Given the description of an element on the screen output the (x, y) to click on. 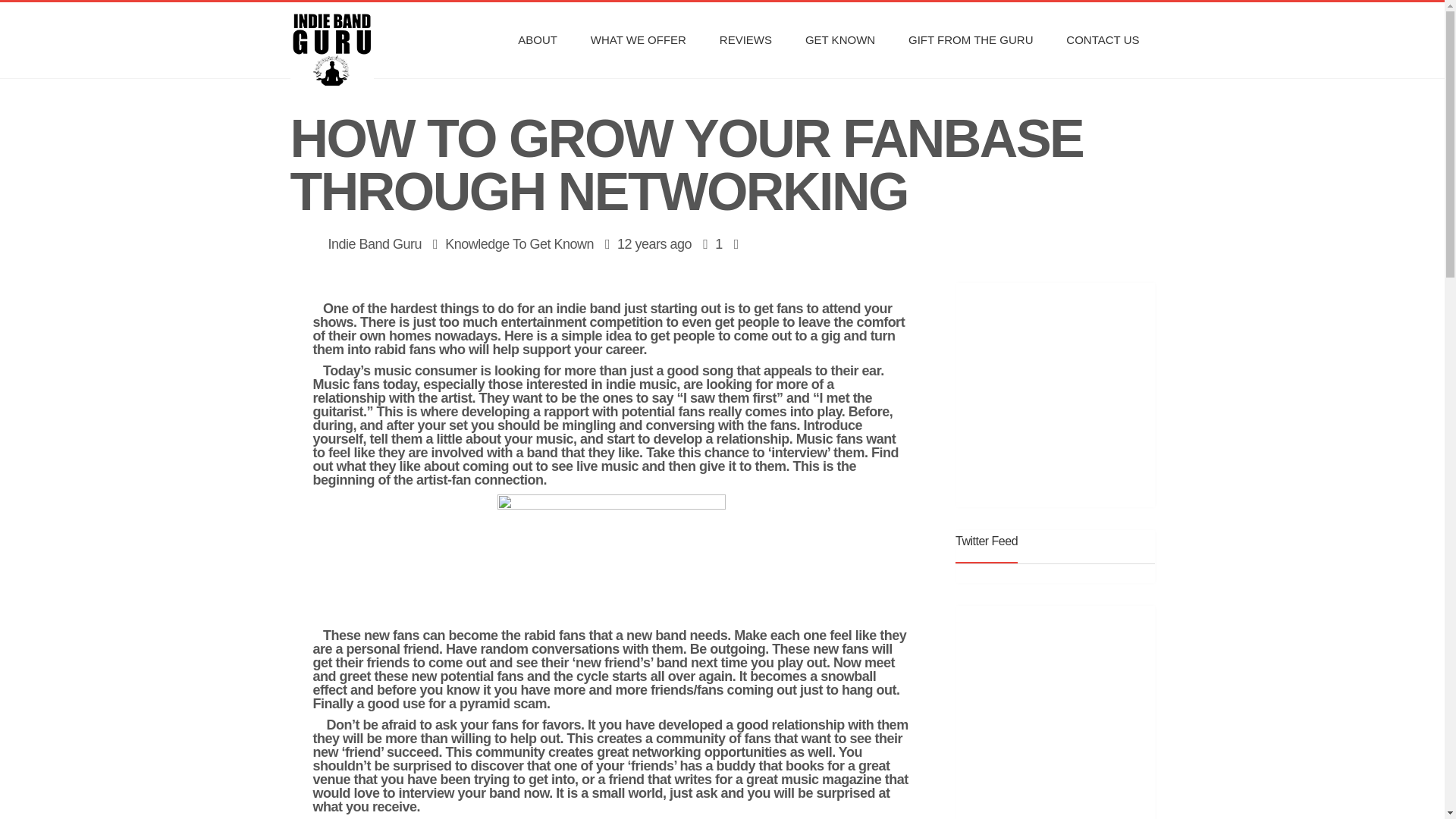
Indie Band Guru (351, 39)
GET KNOWN (839, 39)
Advertisement (1084, 715)
music networks pic (611, 557)
CONTACT US (1102, 39)
View all posts in Knowledge To Get Known (519, 243)
ABOUT (537, 39)
GIFT FROM THE GURU (970, 39)
Advertisement (1057, 392)
WHAT WE OFFER (638, 39)
Indie Band Guru (374, 243)
Knowledge To Get Known (519, 243)
REVIEWS (745, 39)
